Given the description of an element on the screen output the (x, y) to click on. 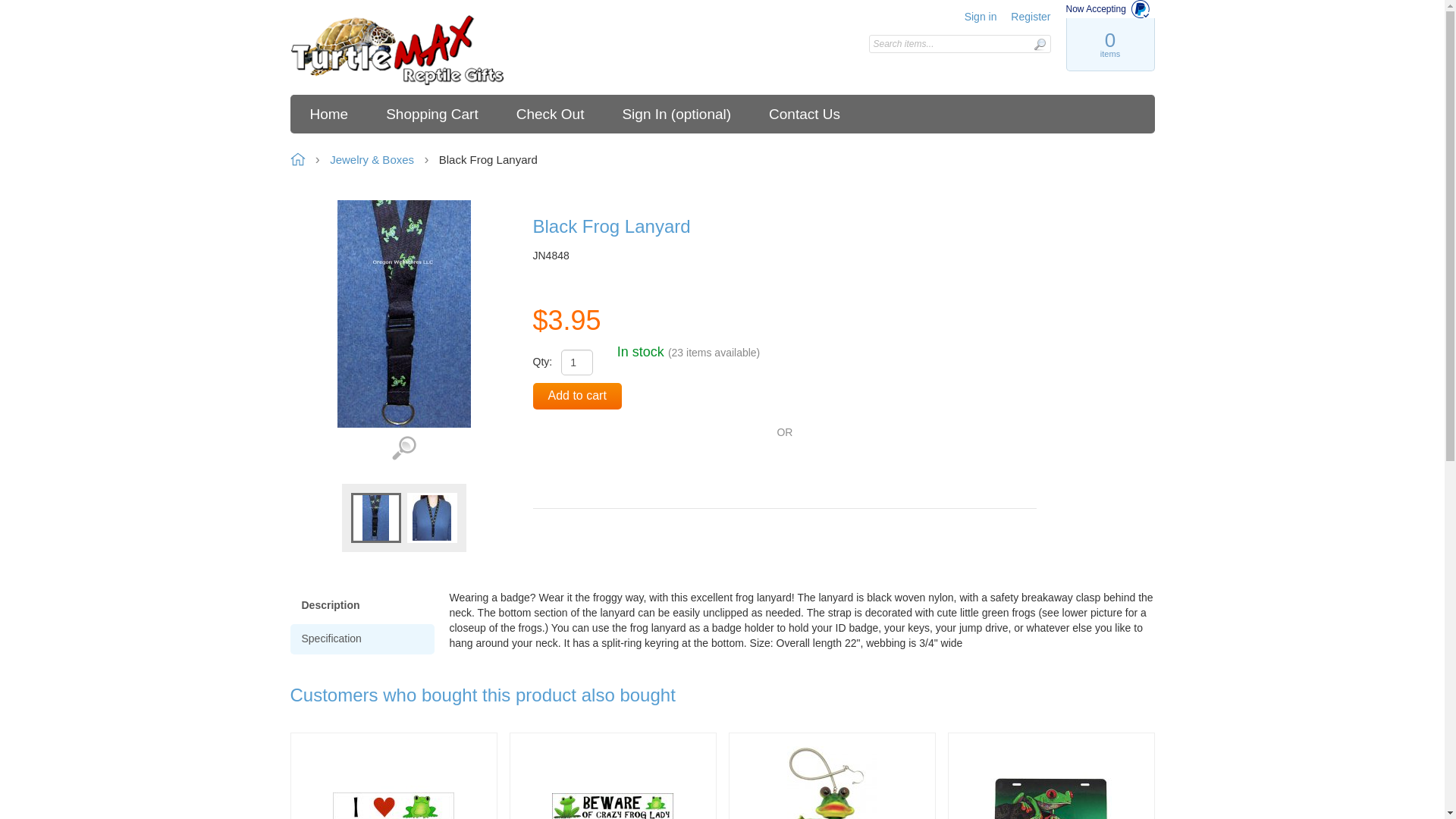
PayPal (589, 470)
Search (1039, 43)
Home (397, 50)
Your cart (1109, 44)
Quantity (576, 362)
1 (576, 362)
Now Accepting PayPal (1109, 9)
